Given the description of an element on the screen output the (x, y) to click on. 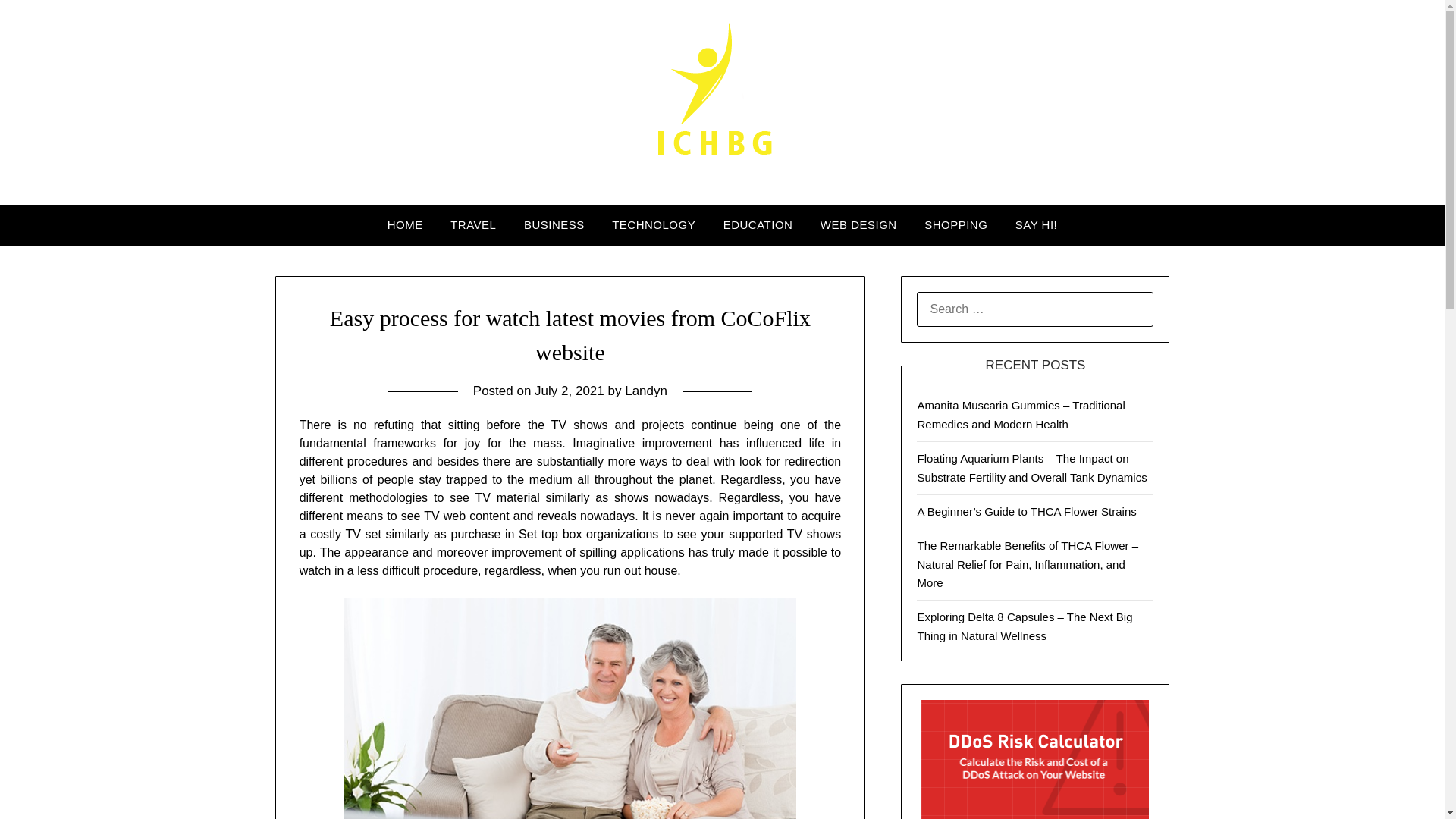
BUSINESS (554, 224)
Search (38, 22)
TECHNOLOGY (653, 224)
SAY HI! (1035, 224)
Landyn (645, 391)
SHOPPING (955, 224)
TRAVEL (473, 224)
HOME (405, 224)
July 2, 2021 (569, 391)
EDUCATION (758, 224)
